Given the description of an element on the screen output the (x, y) to click on. 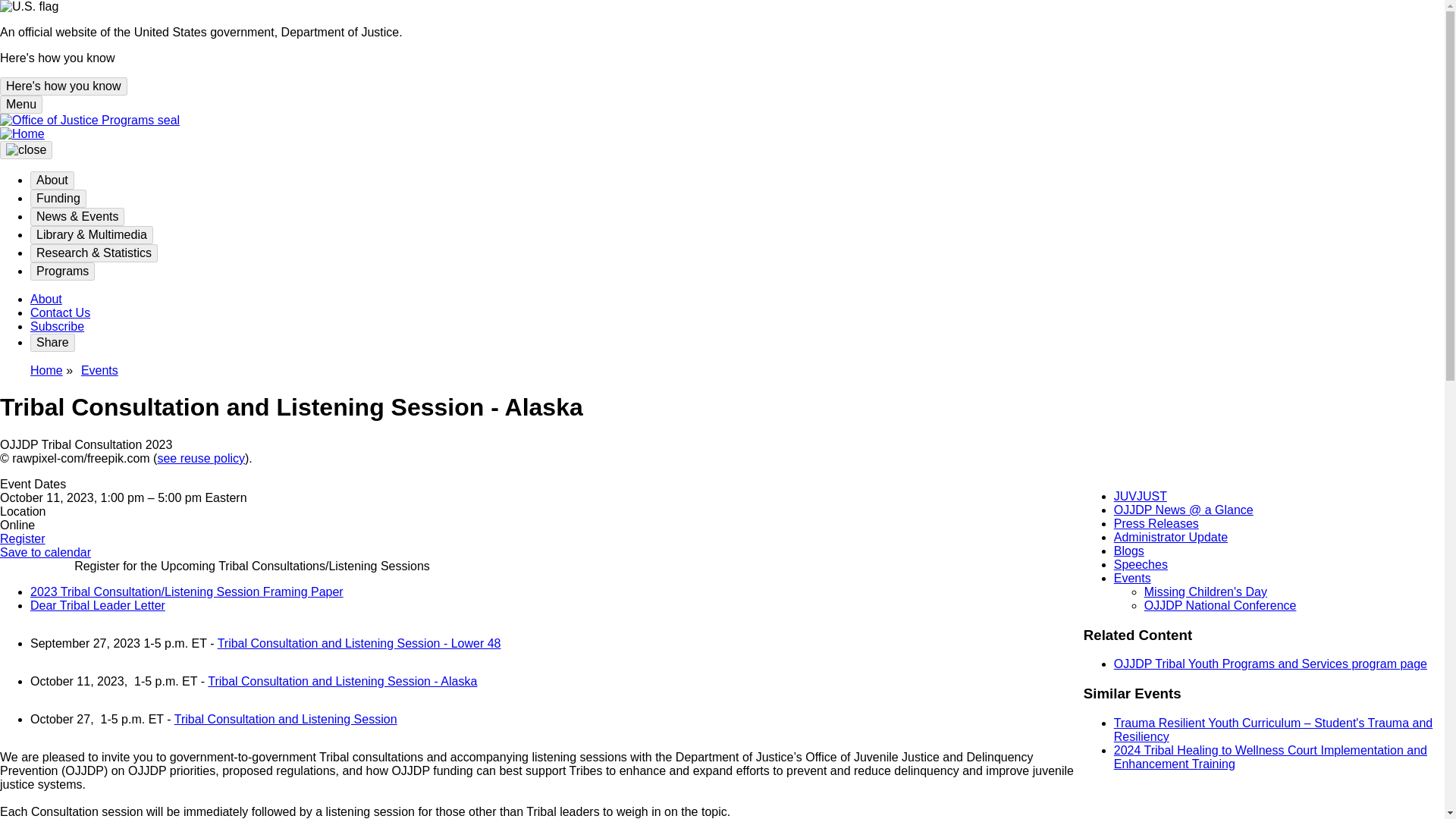
Subscribe (57, 326)
About (46, 298)
Save to calendar (45, 552)
Programs (62, 271)
Tribal Consultation and Listening Session (285, 718)
Office of Justice Programs (89, 119)
Choose a social sharing platform (52, 342)
Tribal Consultation and Listening Session - Alaska (342, 680)
Funding (57, 198)
Here's how you know (64, 85)
Menu (21, 104)
About (52, 180)
Share (52, 342)
OJJDP Tribal Youth Programs and Services program page (1269, 663)
Events (99, 369)
